Given the description of an element on the screen output the (x, y) to click on. 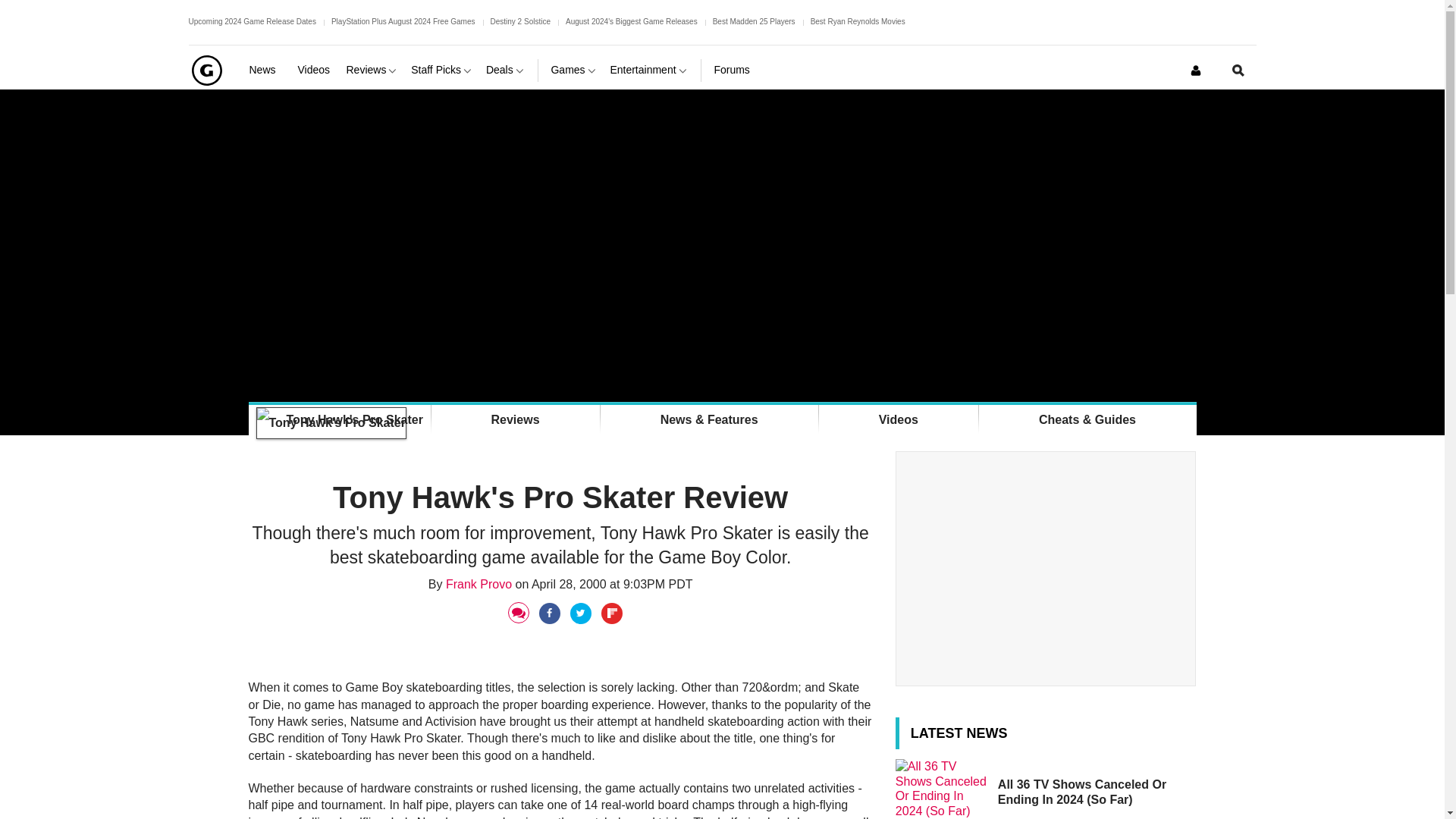
GameSpot (205, 70)
Best Ryan Reynolds Movies (857, 21)
Upcoming 2024 Game Release Dates (251, 21)
Best Madden 25 Players (753, 21)
Flipboard (612, 613)
Reviews (372, 70)
August 2024's Biggest Game Releases (631, 21)
Facebook (550, 613)
Staff Picks (442, 70)
Deals (505, 70)
News (266, 70)
Games (573, 70)
Twitter (582, 613)
Destiny 2 Solstice (519, 21)
